Given the description of an element on the screen output the (x, y) to click on. 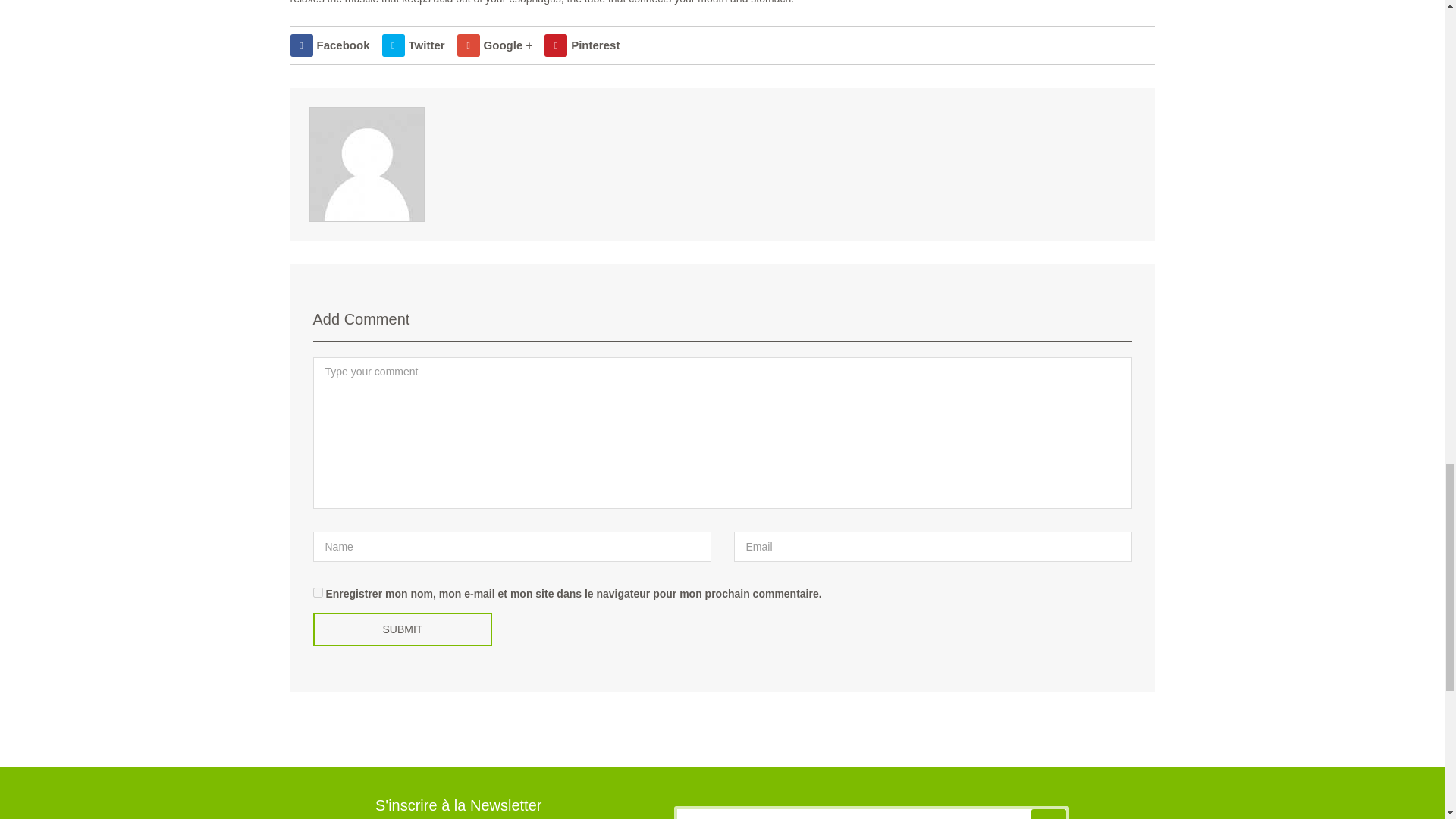
Facebook (329, 45)
yes (317, 592)
Submit (402, 629)
Pinterest (582, 45)
Twitter (413, 45)
Submit (402, 629)
